Given the description of an element on the screen output the (x, y) to click on. 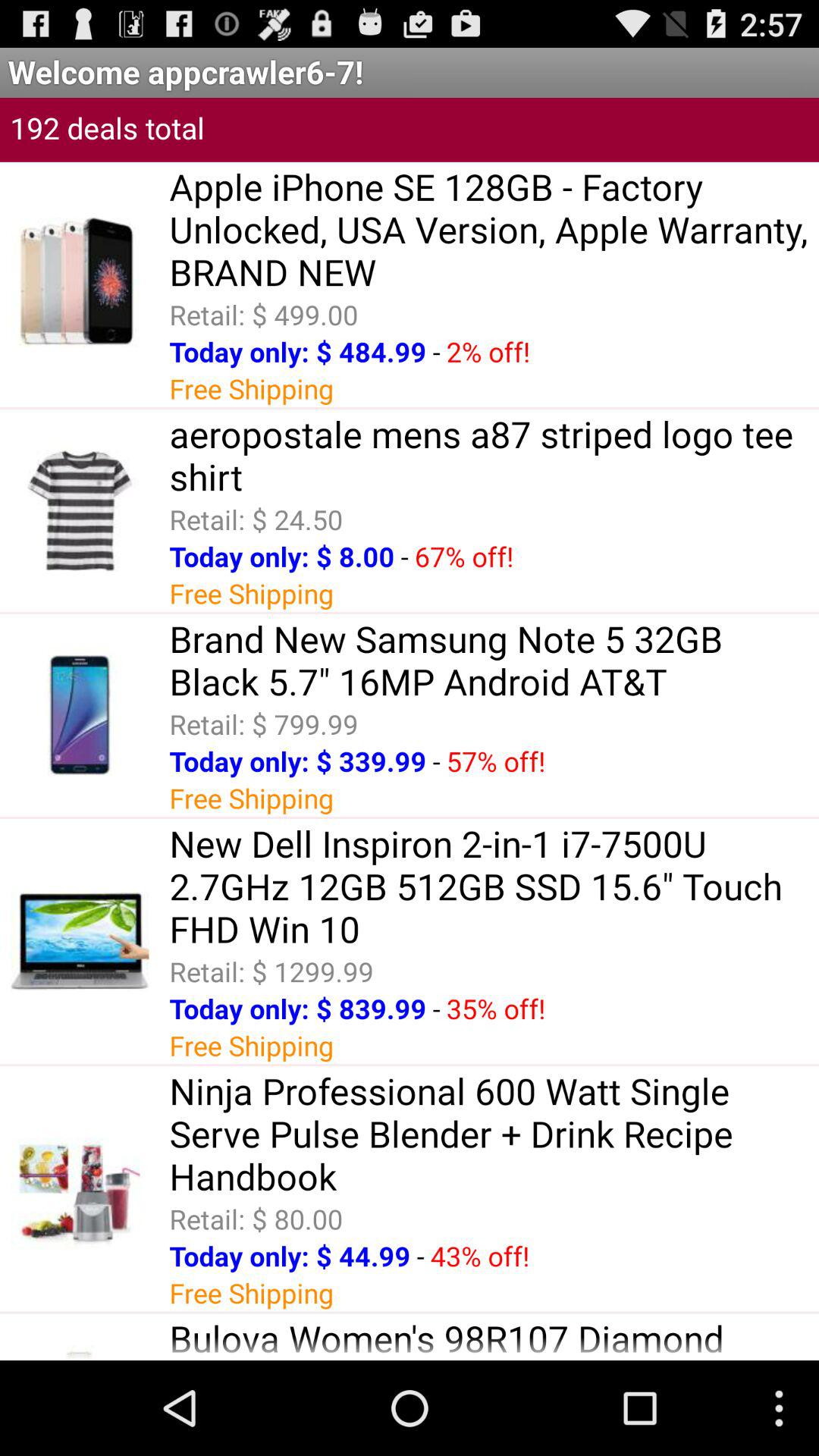
click item to the left of the 43% off! item (420, 1255)
